Given the description of an element on the screen output the (x, y) to click on. 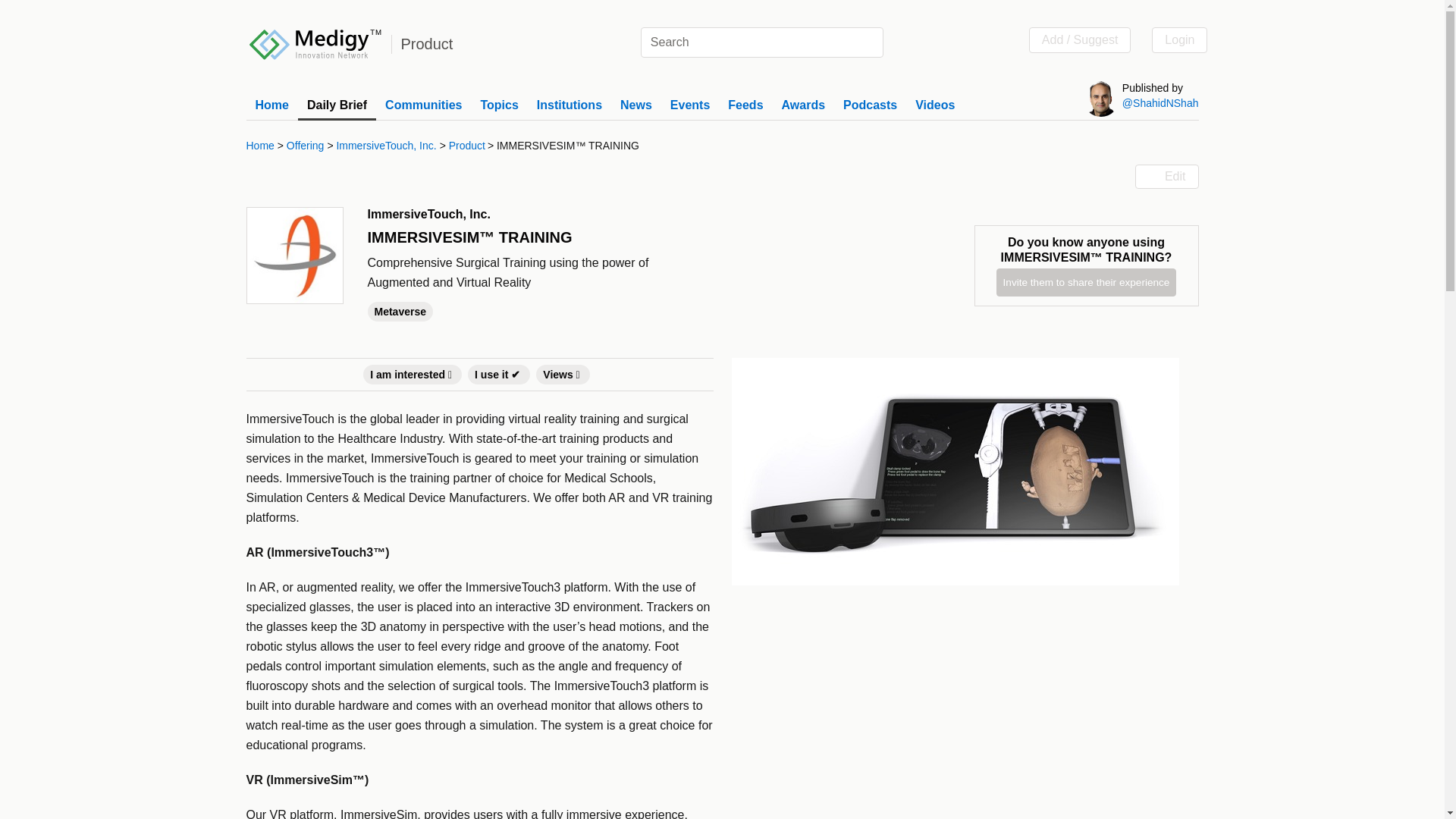
Login (1179, 40)
Product (467, 145)
Topics (498, 105)
Search (869, 41)
Awards (803, 105)
Topics (499, 105)
Communities (422, 105)
Institutions (569, 105)
Daily Brief (336, 105)
ImmersiveTouch, Inc. (386, 145)
